Given the description of an element on the screen output the (x, y) to click on. 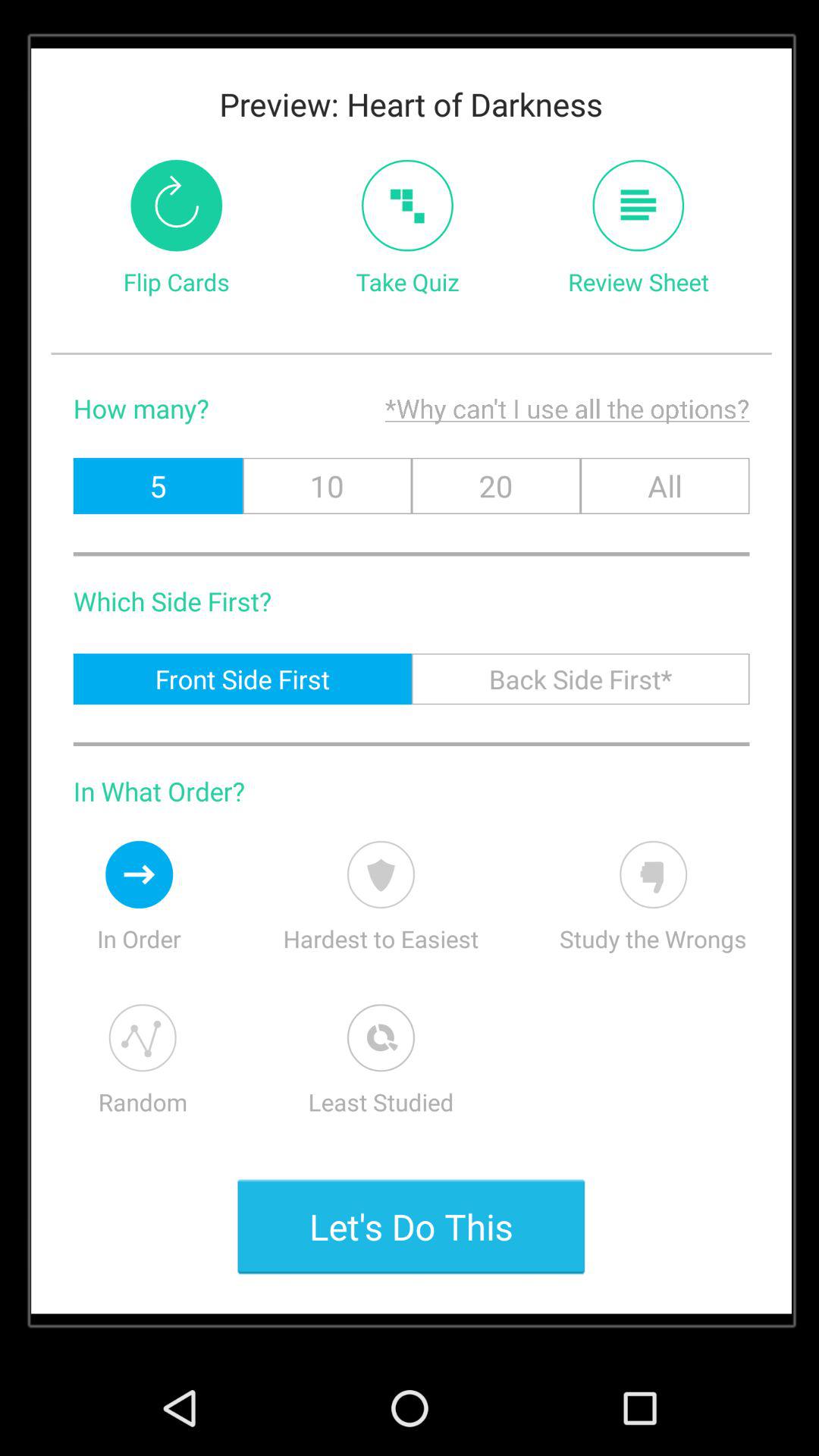
launch item to the left of the all item (495, 485)
